Given the description of an element on the screen output the (x, y) to click on. 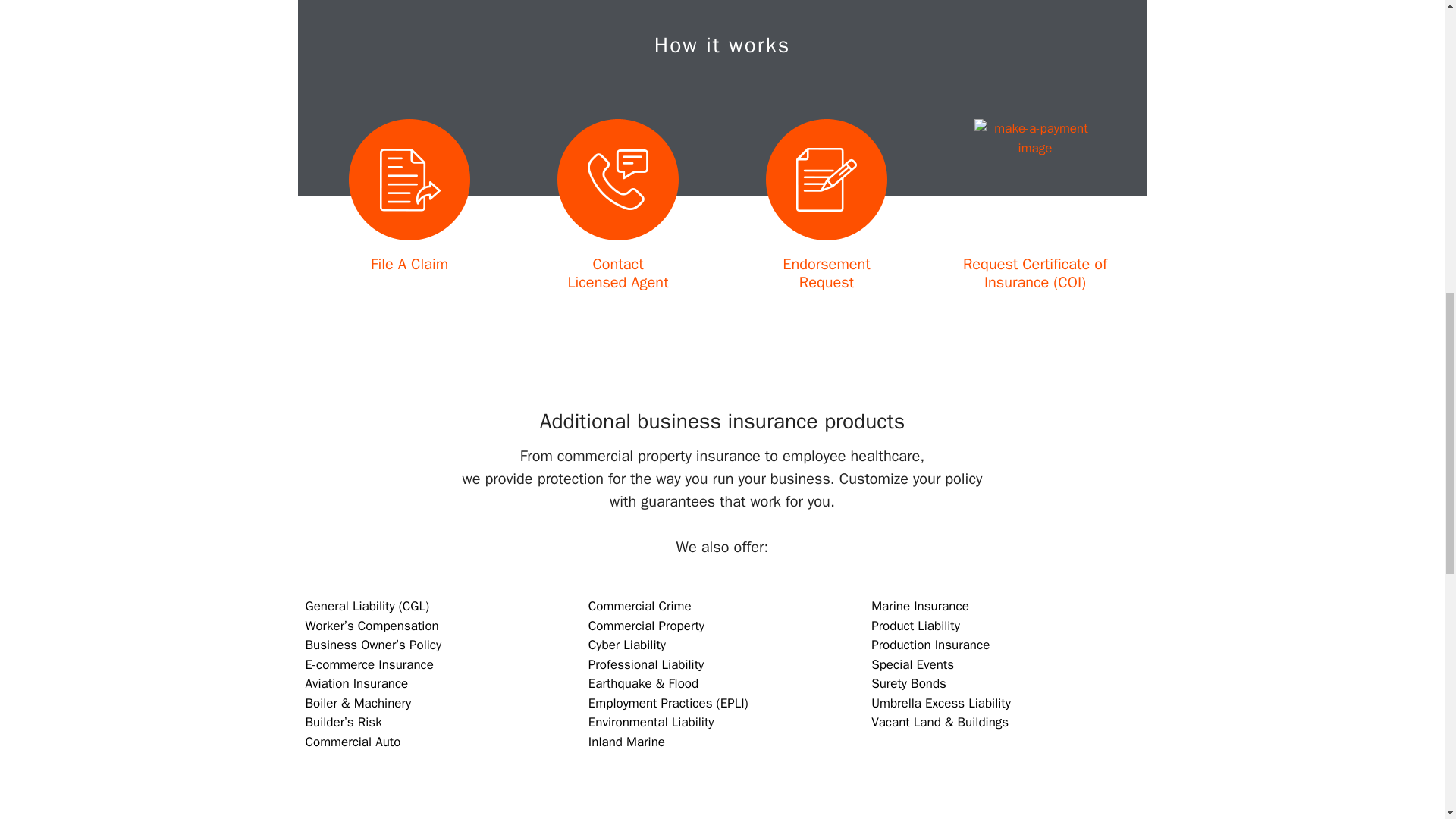
Commercial Auto (352, 741)
E-commerce Insurance (617, 272)
Commercial Crime (368, 664)
File A Claim (639, 606)
Aviation Insurance (409, 263)
